Given the description of an element on the screen output the (x, y) to click on. 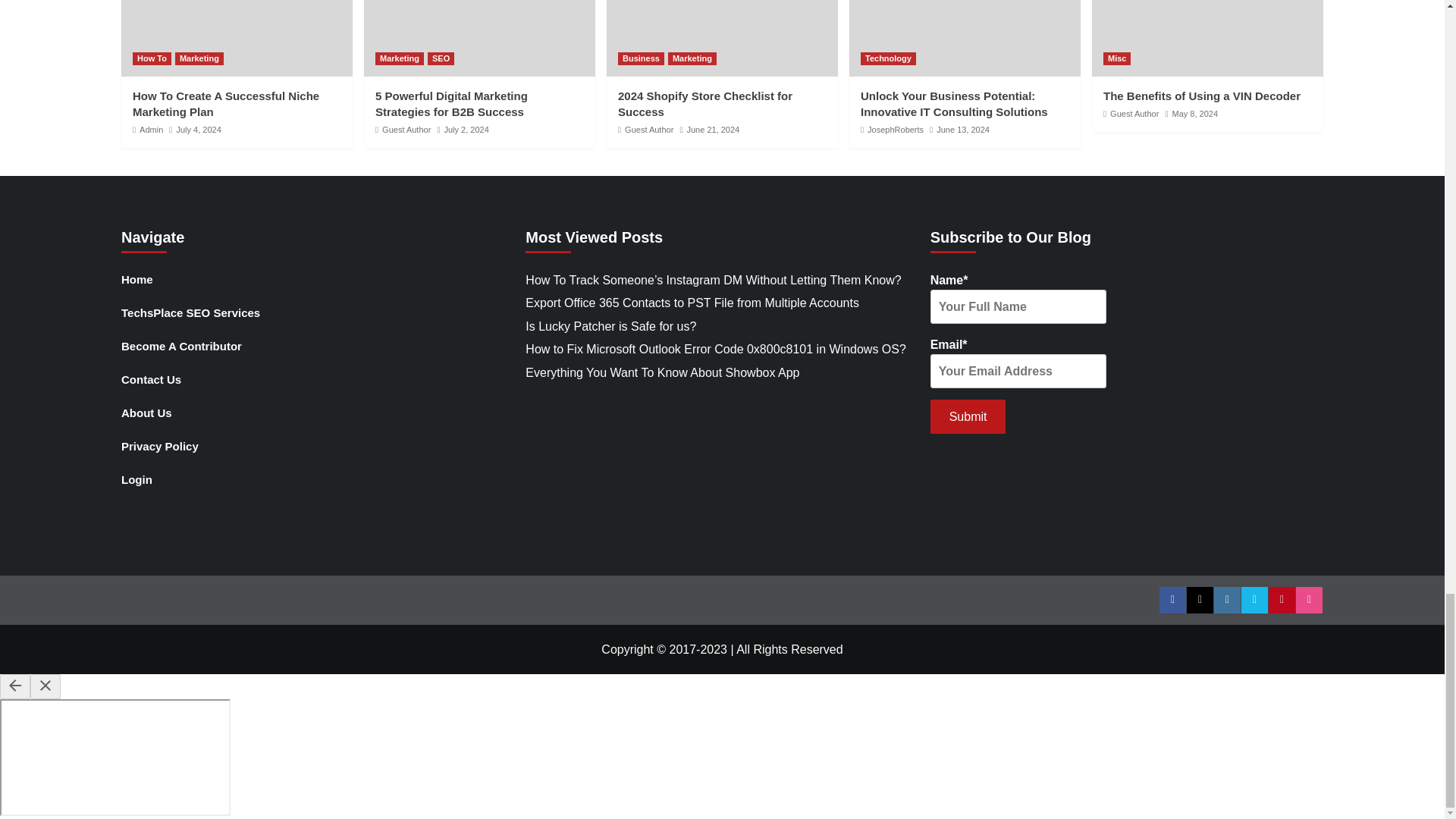
Submit (968, 416)
